Given the description of an element on the screen output the (x, y) to click on. 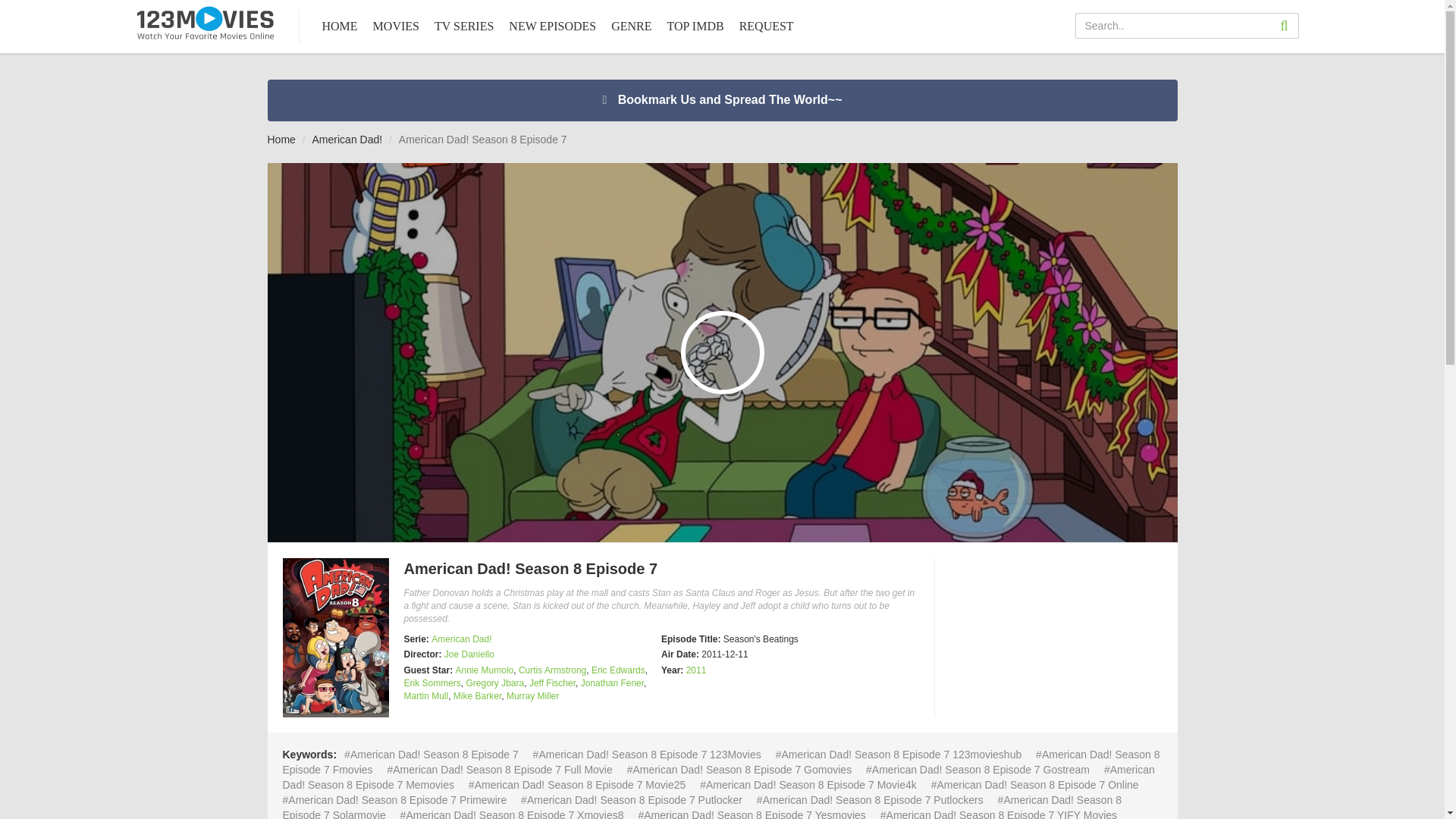
REQUEST (766, 26)
GENRE (631, 26)
TOP IMDB (694, 26)
Home (280, 139)
American Dad! (347, 139)
NEW EPISODES (552, 26)
American Dad! Season 8 Episode 7 (335, 637)
MOVIES (396, 26)
HOME (339, 26)
TV SERIES (463, 26)
